Given the description of an element on the screen output the (x, y) to click on. 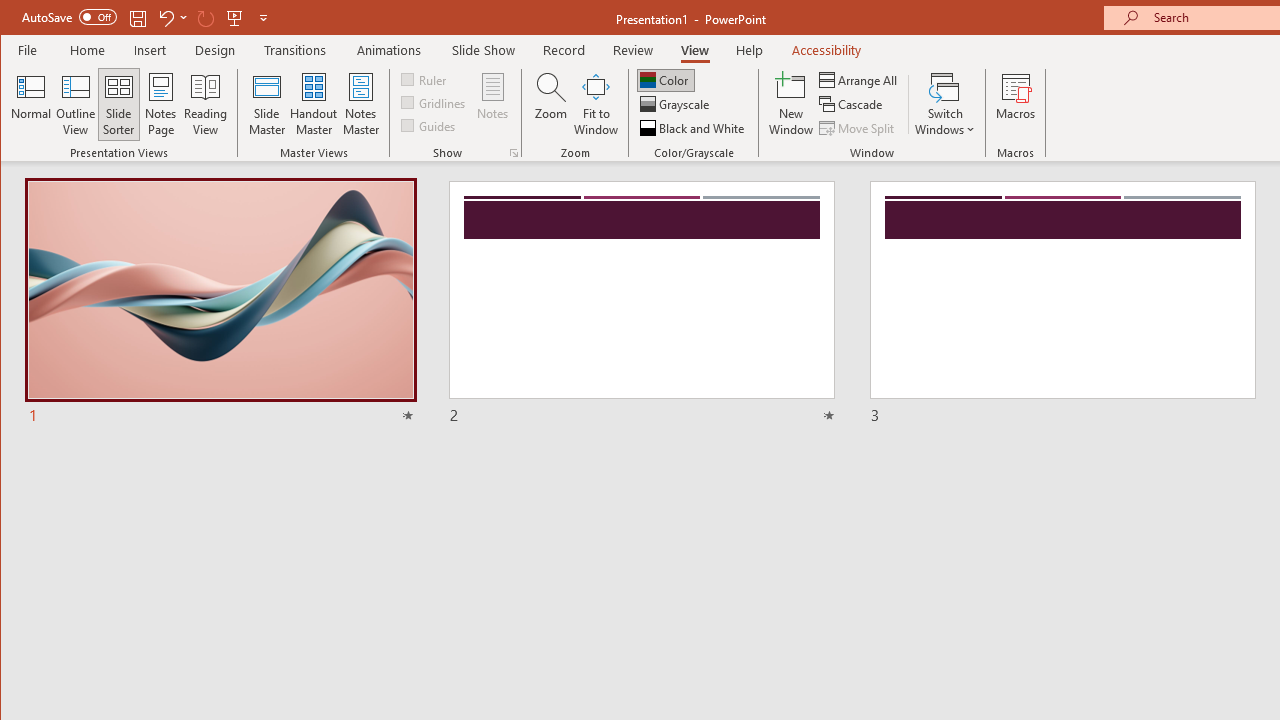
Notes Master (360, 104)
Grid Settings... (513, 152)
Fit to Window (596, 104)
Zoom... (550, 104)
